Given the description of an element on the screen output the (x, y) to click on. 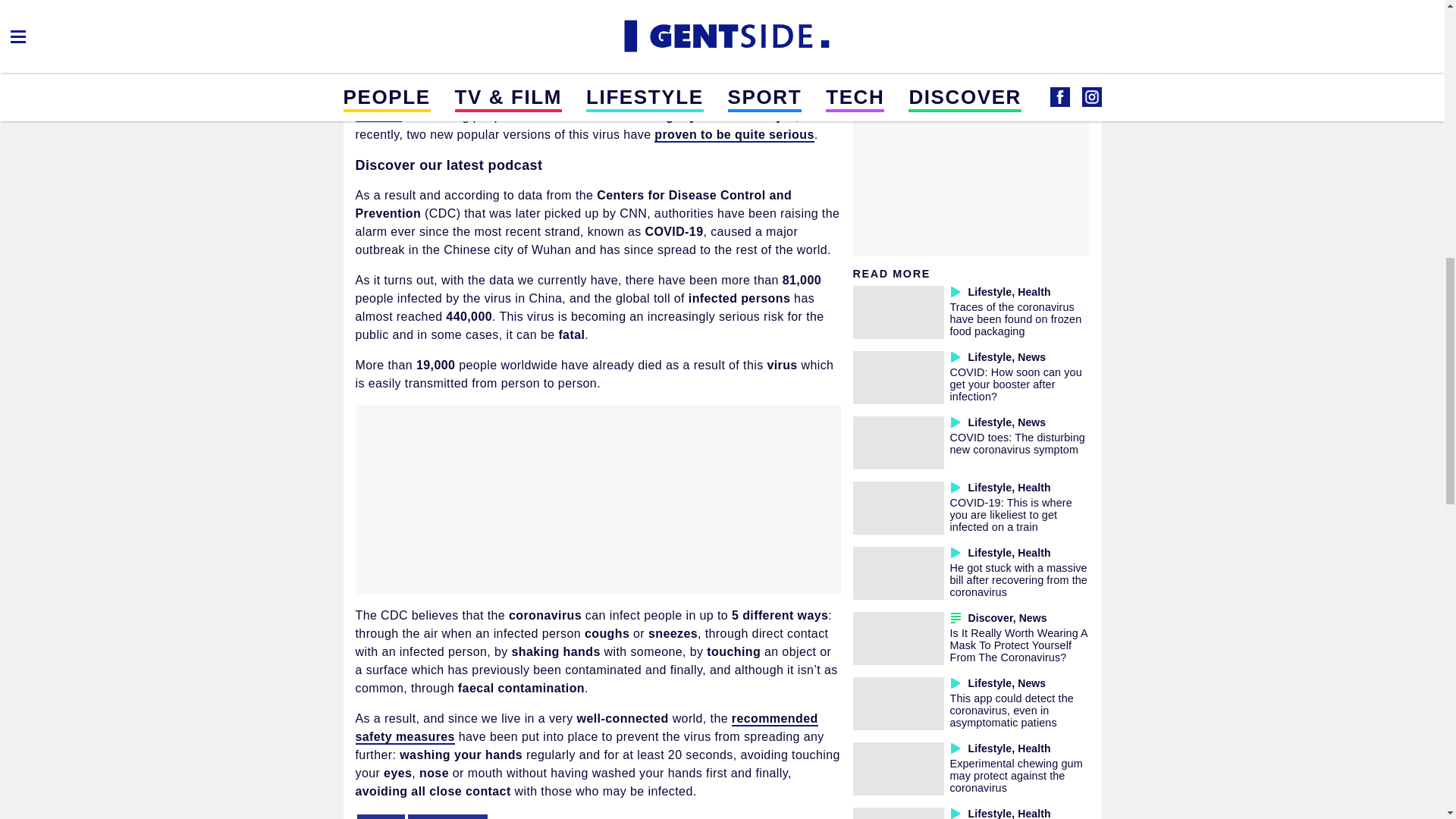
Tweeter (488, 46)
CORONAVIRUS (447, 816)
Pin it (524, 46)
COVID: How soon can you get your booster after infection? (1015, 384)
HEALTH (380, 816)
recommended safety measures (585, 727)
Share on Flipboard (451, 46)
Share on Facebook (378, 46)
proven to be quite serious (733, 134)
COVID toes: The disturbing new coronavirus symptom (1016, 443)
Share on Mail (415, 46)
